Given the description of an element on the screen output the (x, y) to click on. 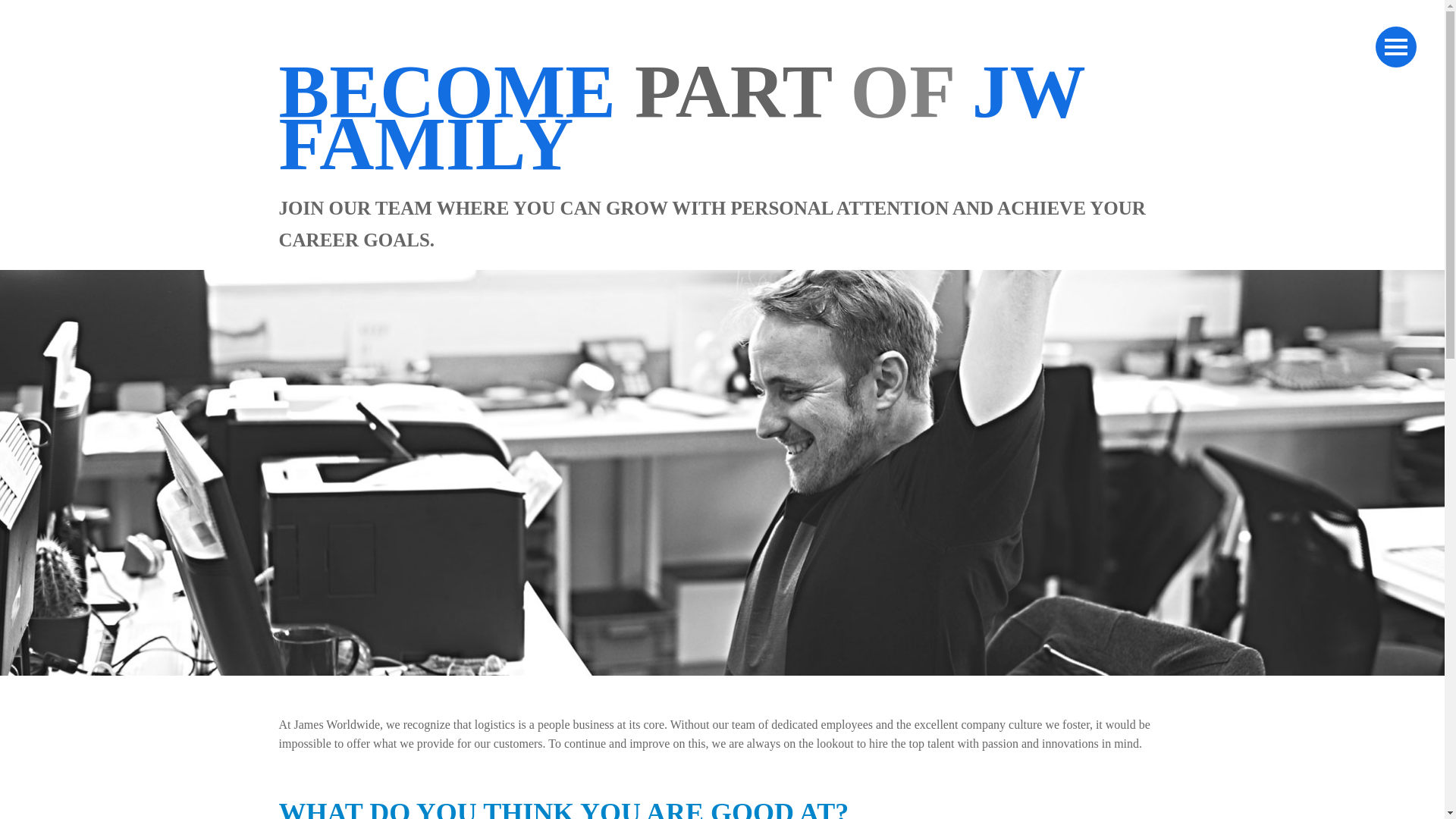
Primary Menu (1395, 46)
